Given the description of an element on the screen output the (x, y) to click on. 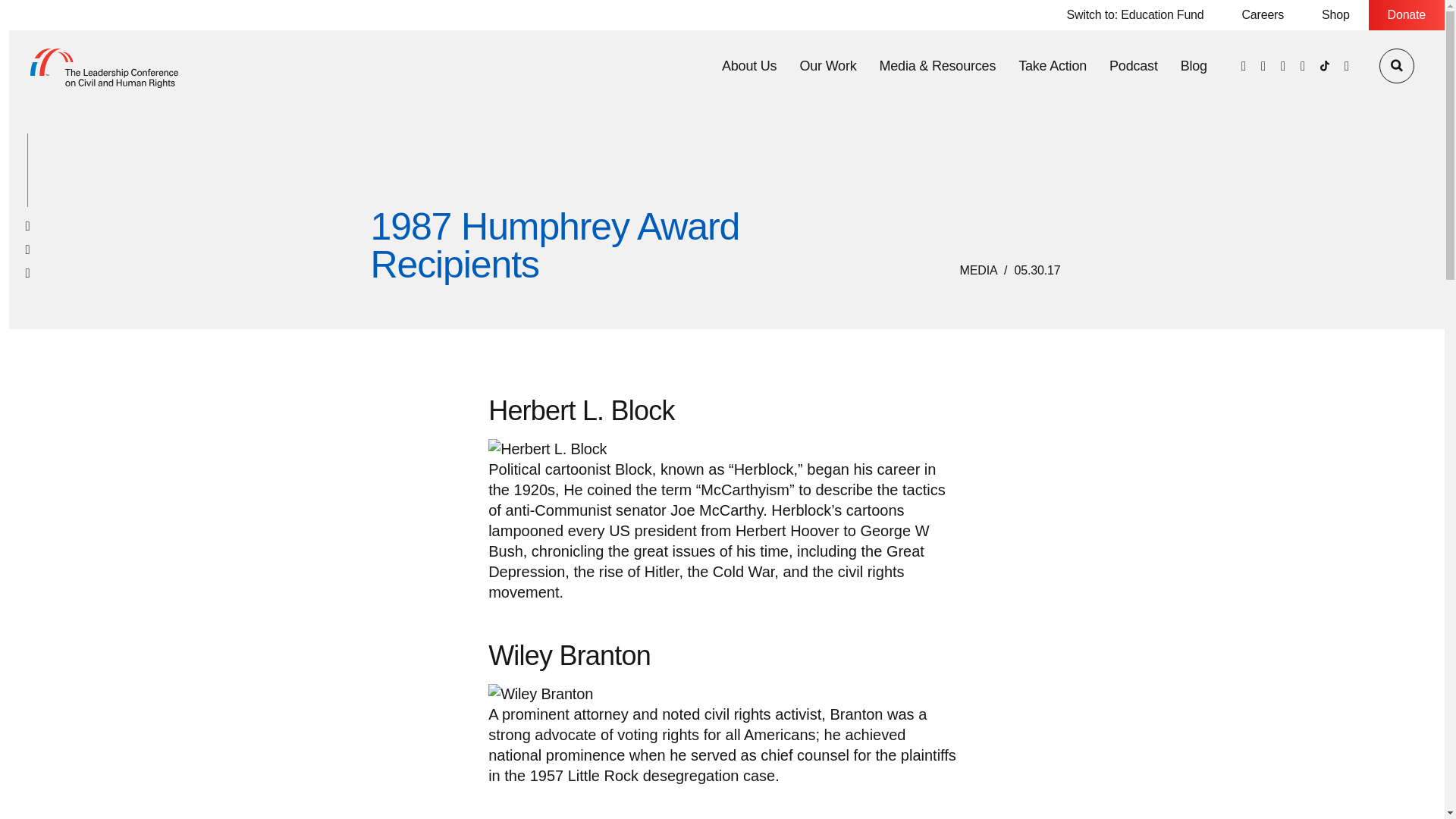
About Us (749, 65)
Careers (1263, 15)
Switch to: Education Fund (1135, 15)
Shop (1335, 15)
